Given the description of an element on the screen output the (x, y) to click on. 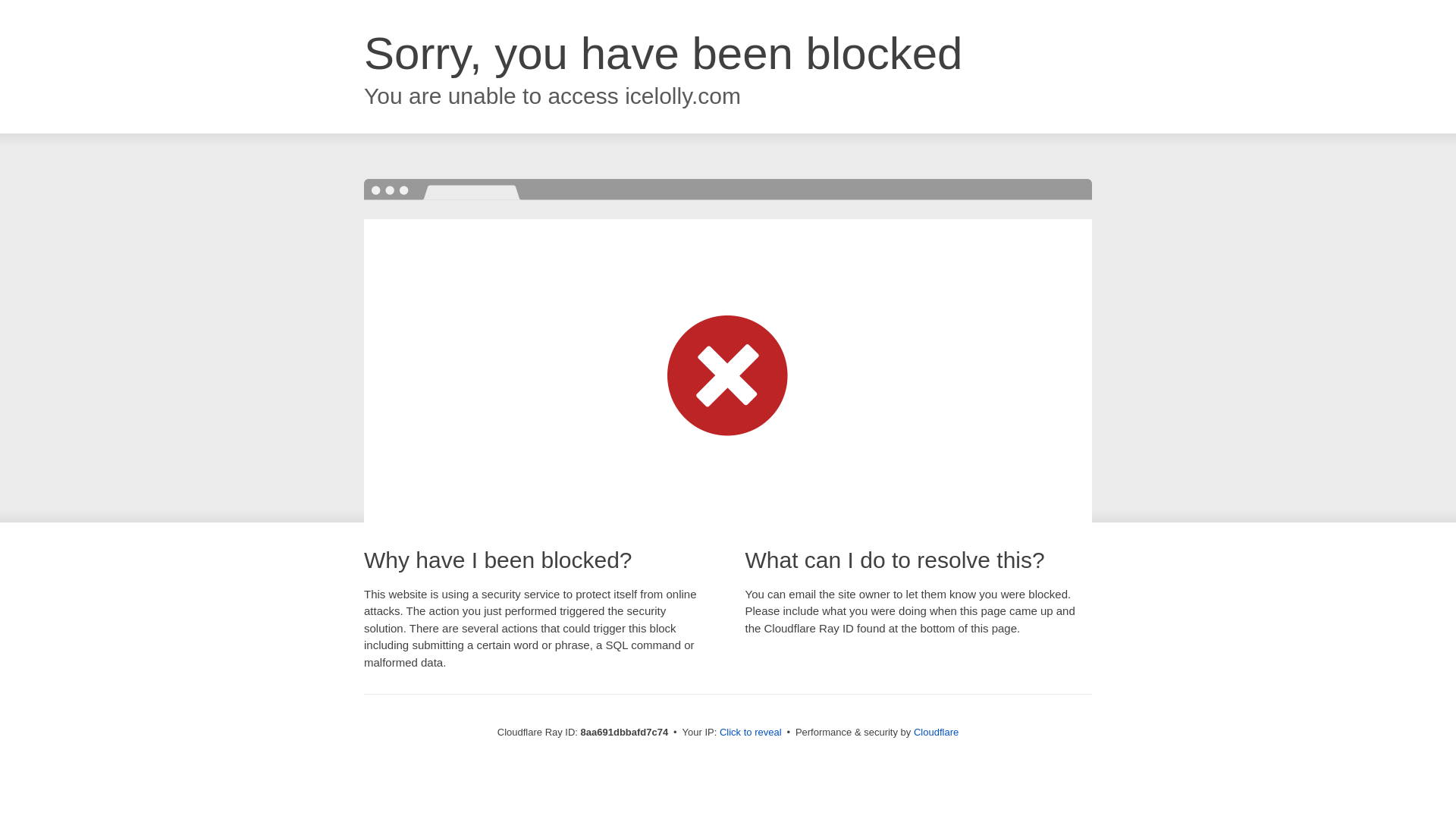
Click to reveal (750, 732)
Cloudflare (936, 731)
